Given the description of an element on the screen output the (x, y) to click on. 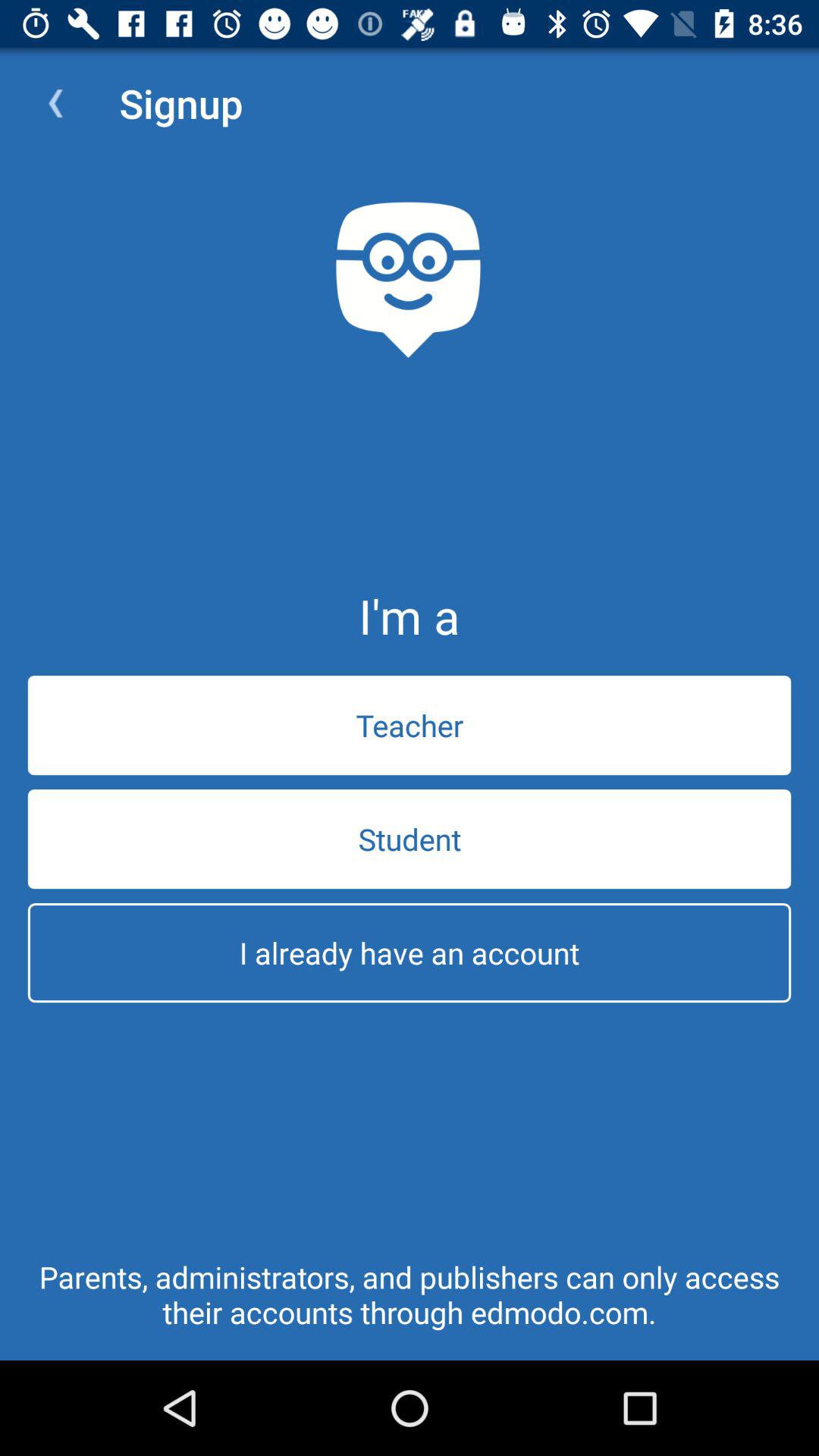
click student icon (409, 838)
